Given the description of an element on the screen output the (x, y) to click on. 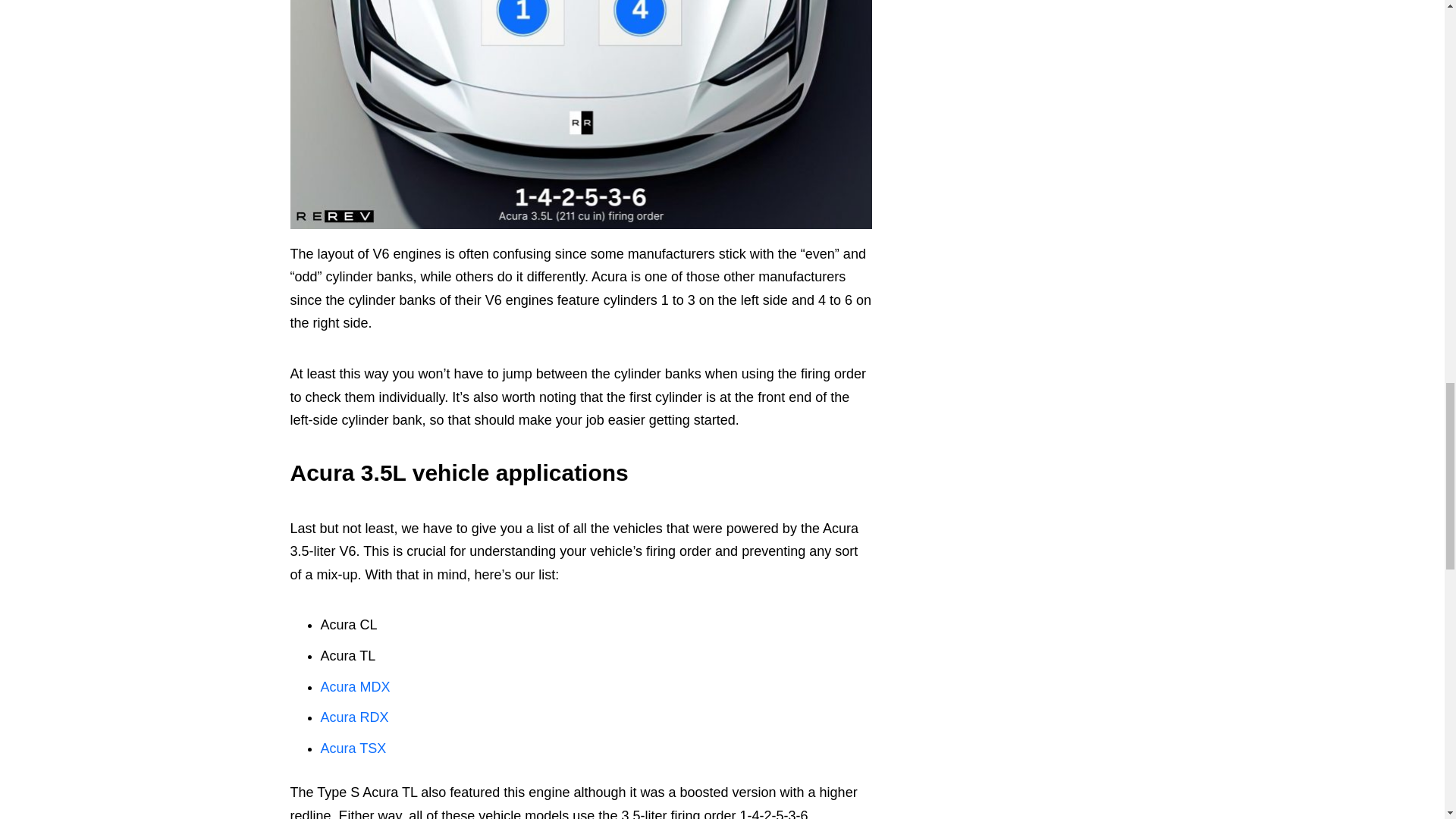
Acura RDX (354, 717)
Acura MDX (355, 686)
Acura TSX (352, 748)
